Given the description of an element on the screen output the (x, y) to click on. 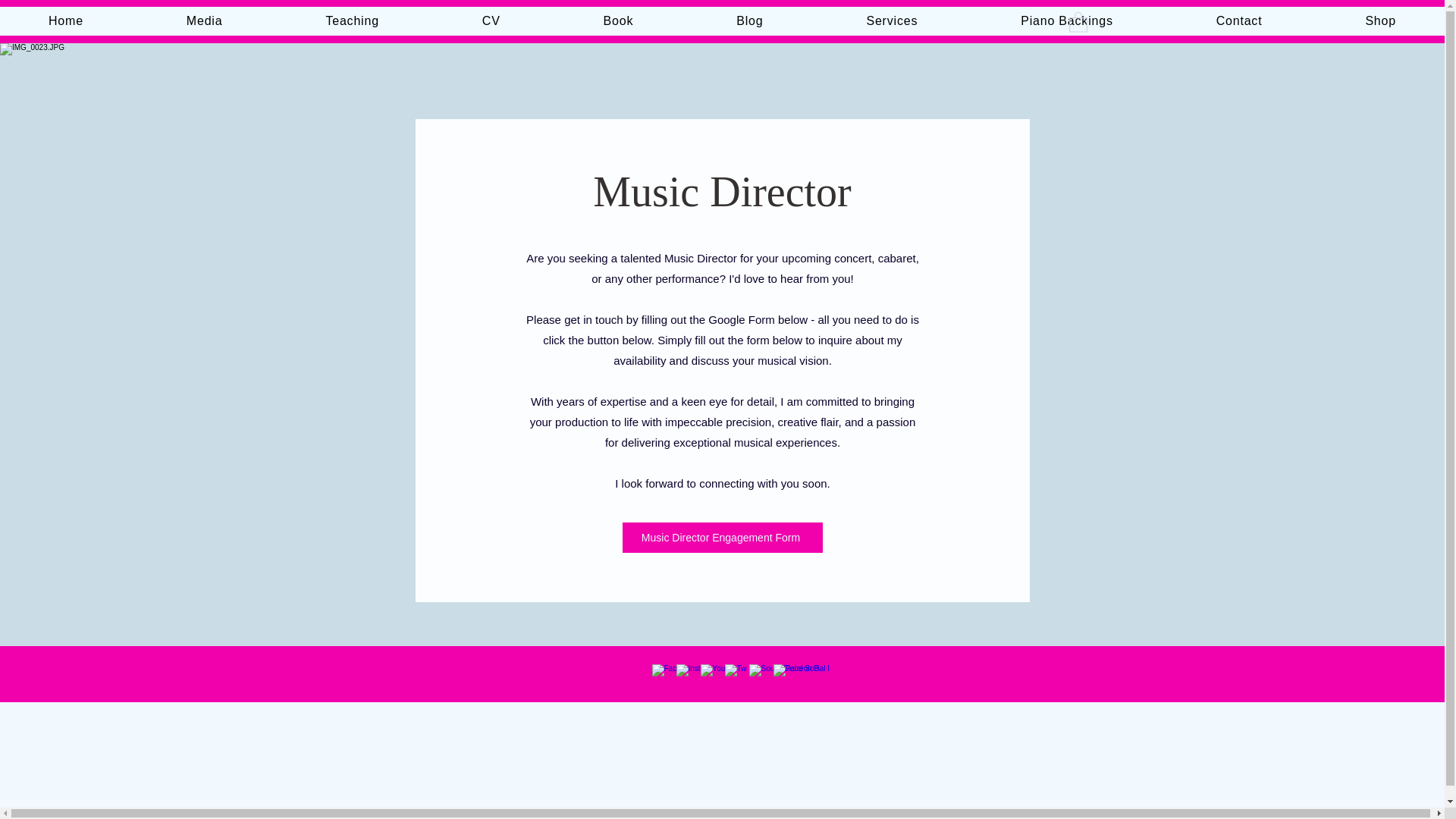
Services (891, 21)
Home (66, 21)
Piano Backings (1066, 21)
Teaching (351, 21)
Shop (1380, 21)
Contact (1239, 21)
Music Director Engagement Form (721, 537)
Blog (748, 21)
Book (618, 21)
Media (204, 21)
